Given the description of an element on the screen output the (x, y) to click on. 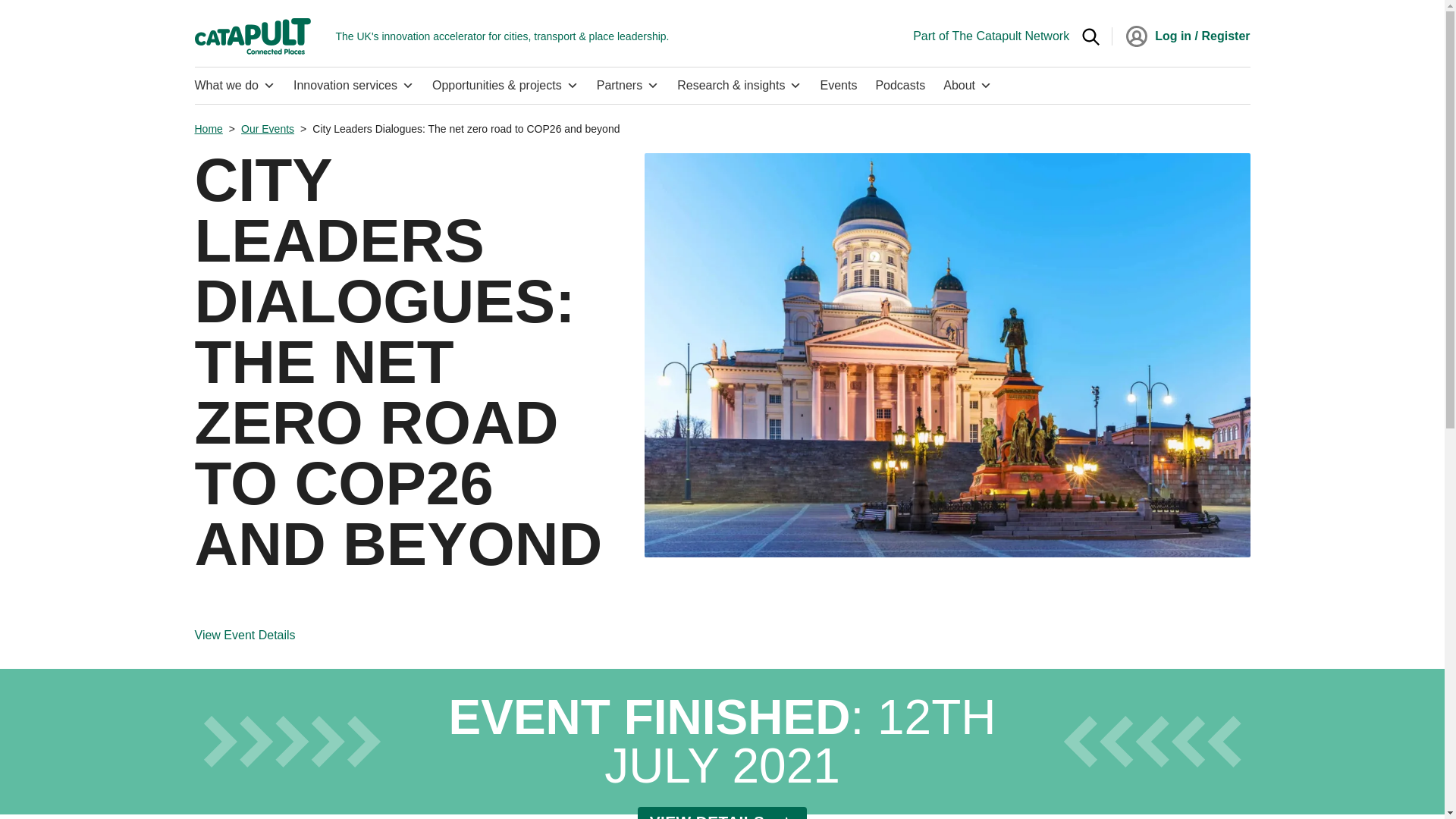
Go to Our Events. (267, 128)
Part of The Catapult Network (990, 35)
What we do (238, 85)
Partners (628, 85)
Innovation services (353, 85)
Search (1090, 36)
